Given the description of an element on the screen output the (x, y) to click on. 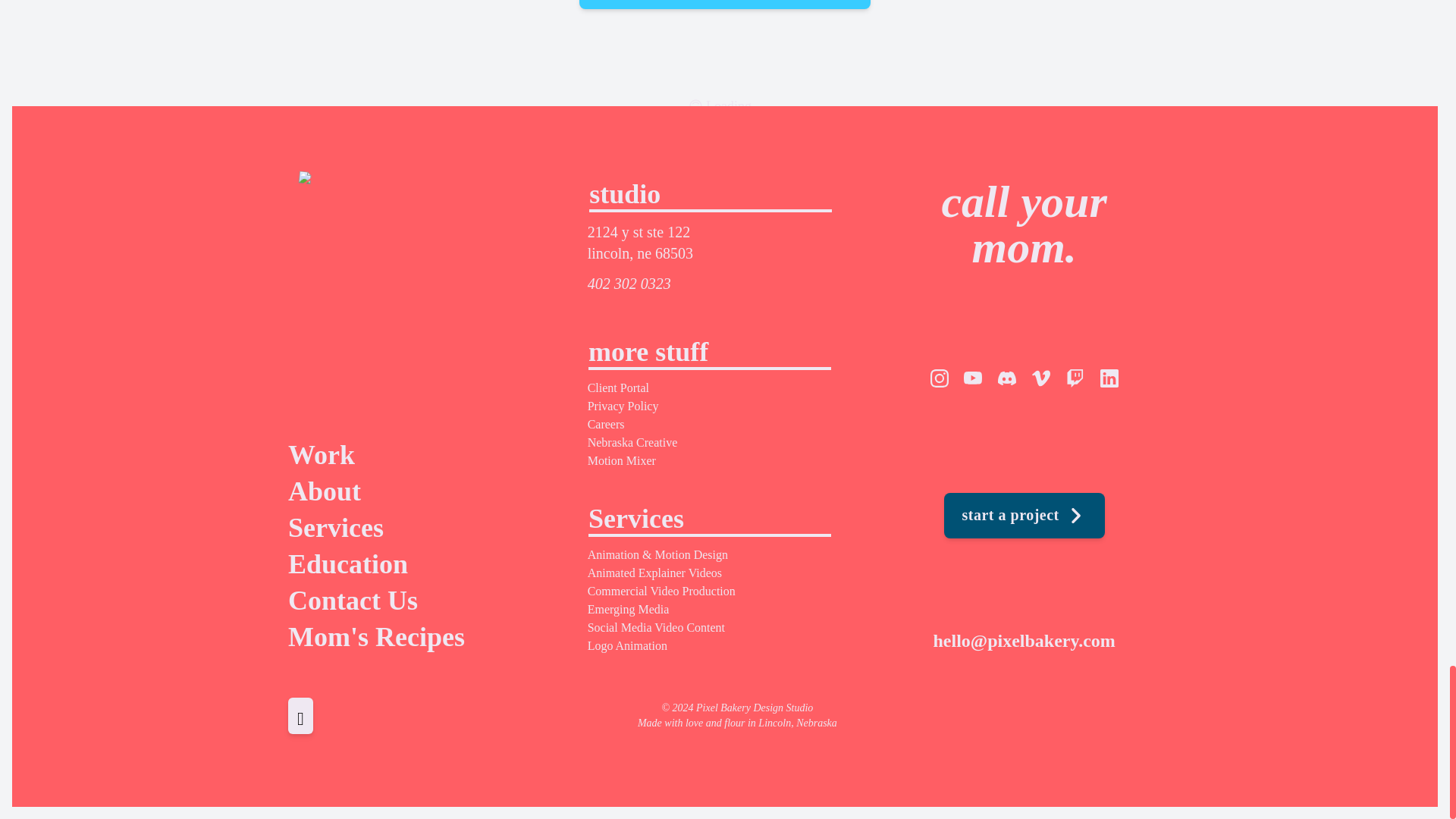
Services (425, 527)
Work (425, 454)
Privacy Policy (623, 405)
About (425, 490)
Motion Mixer (622, 460)
Education (425, 563)
Animated Explainer Videos (655, 572)
we got more (724, 4)
Nebraska Creative (633, 441)
Mom's Recipes (425, 636)
